Given the description of an element on the screen output the (x, y) to click on. 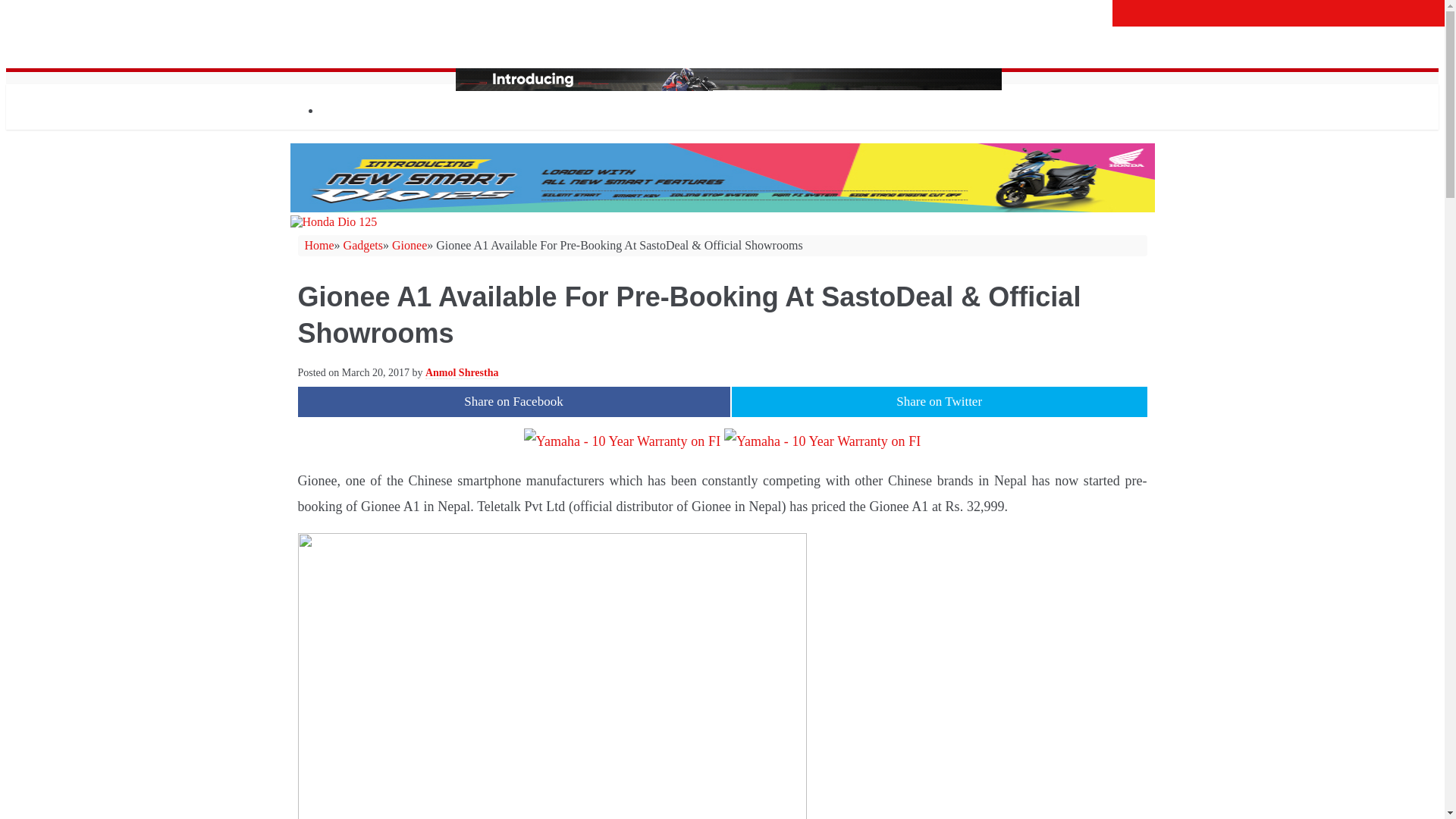
Anmol Shrestha (462, 372)
GADGETS (347, 216)
 Home (317, 245)
MOBILES (378, 269)
APPS (334, 698)
REVIEWS (347, 752)
NEWS (336, 163)
STARTUPS (349, 645)
Honda Dio 125 (721, 177)
BIKES (369, 538)
Share on Facebook (513, 400)
Go to the Gionee category archives. (408, 245)
LAPTOPS (378, 323)
CARS (367, 484)
